Given the description of an element on the screen output the (x, y) to click on. 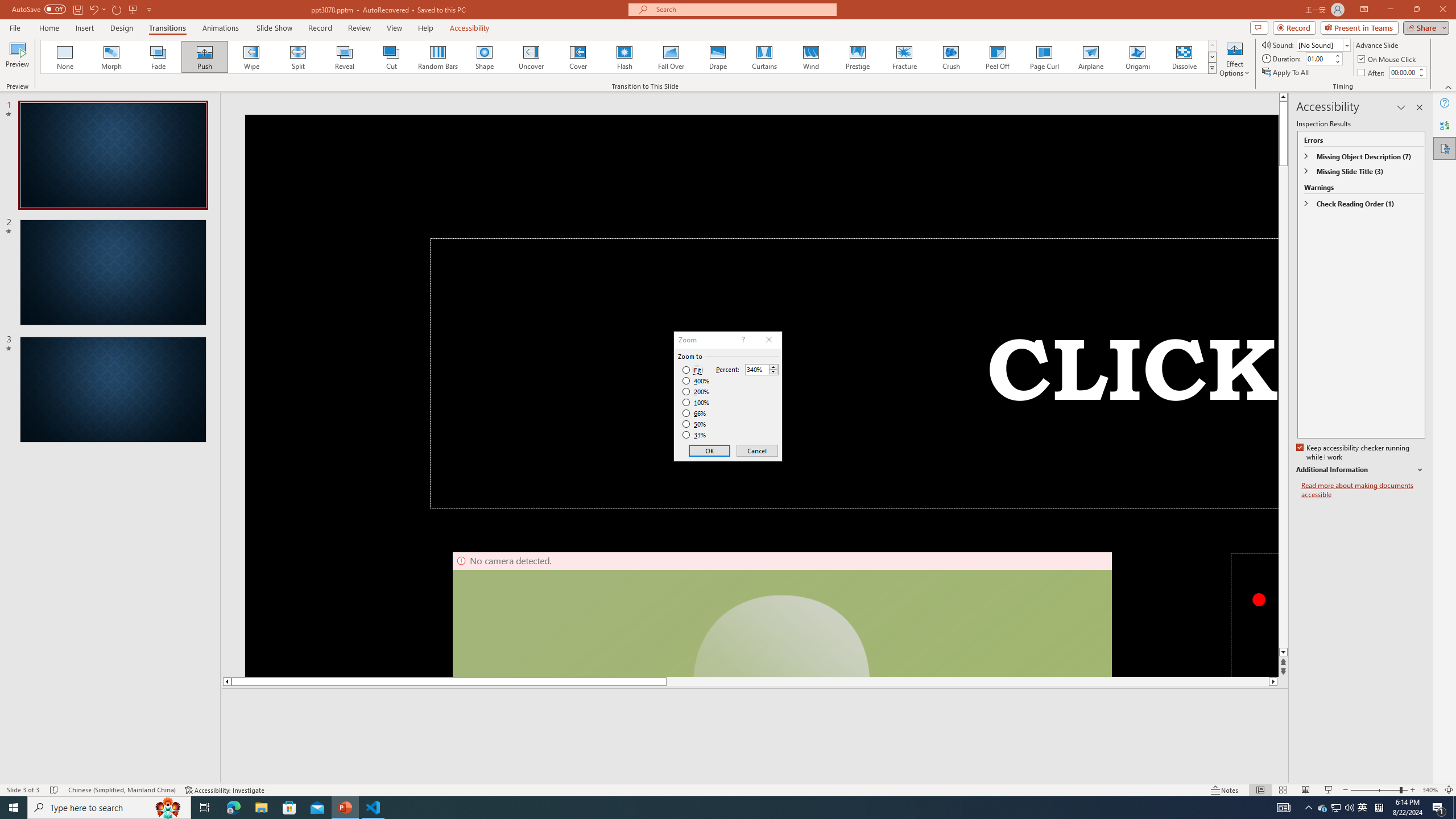
Page Curl (1043, 56)
400% (696, 380)
Sound (1324, 44)
Uncover (531, 56)
On Mouse Click (1387, 58)
Zoom 340% (1430, 790)
None (65, 56)
Transition Effects (1212, 67)
